Given the description of an element on the screen output the (x, y) to click on. 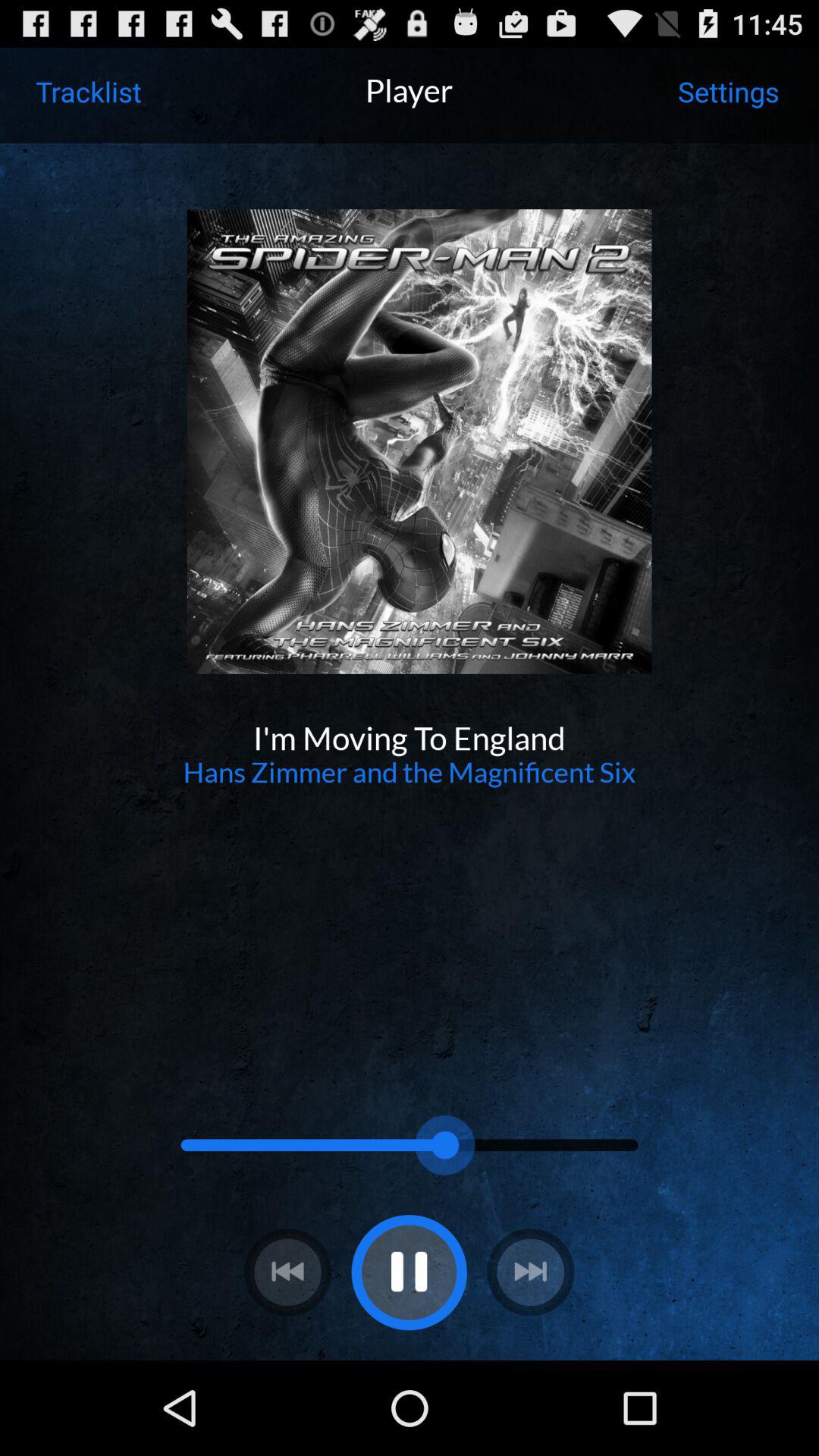
go to previous audio (287, 1272)
